Given the description of an element on the screen output the (x, y) to click on. 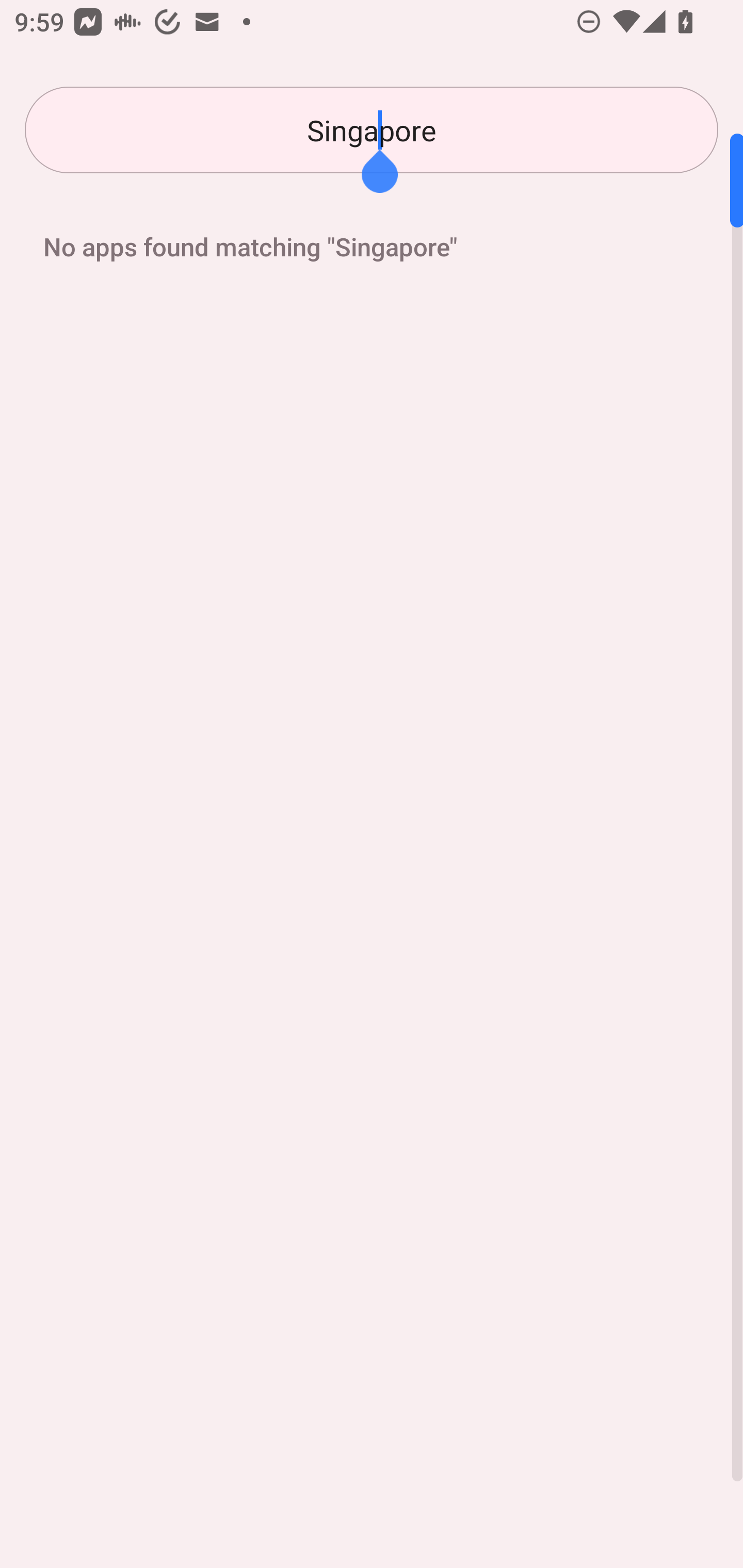
Singapore (371, 130)
